Given the description of an element on the screen output the (x, y) to click on. 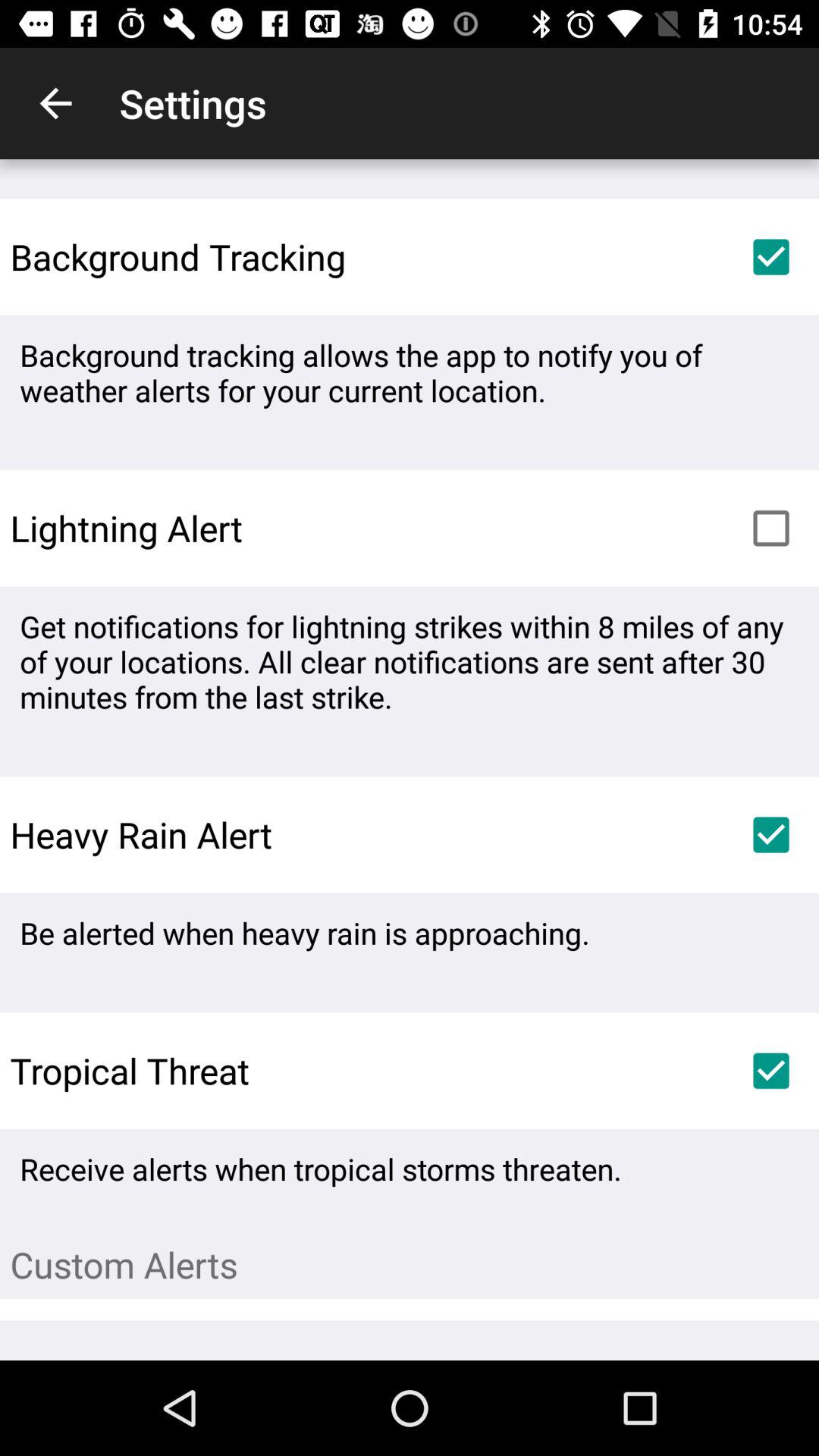
toggle selection (771, 834)
